Given the description of an element on the screen output the (x, y) to click on. 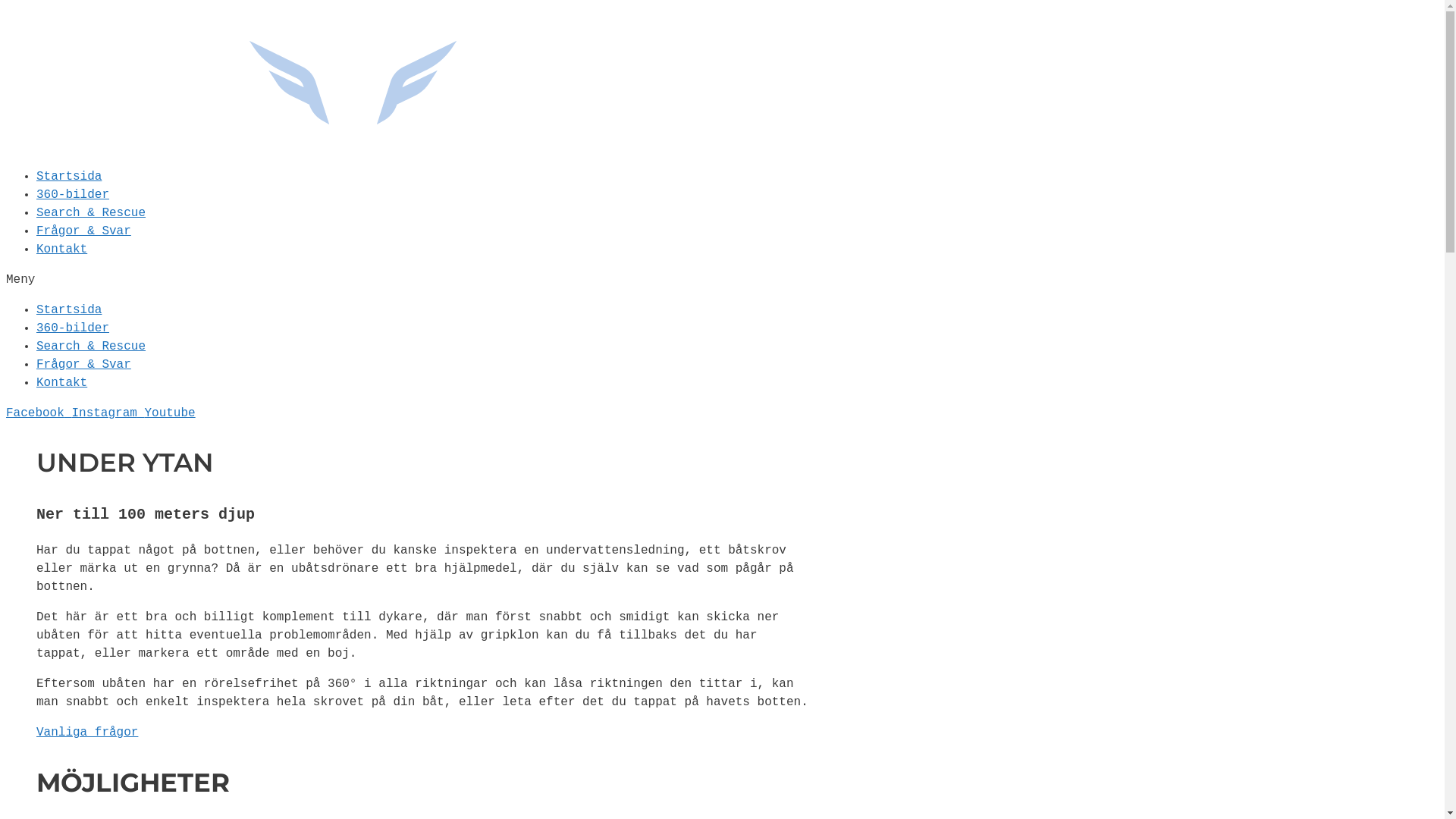
360-bilder Element type: text (72, 328)
Kontakt Element type: text (61, 249)
360-bilder Element type: text (72, 194)
Search & Rescue Element type: text (90, 212)
Startsida Element type: text (68, 309)
Startsida Element type: text (68, 176)
Facebook Element type: text (38, 413)
Instagram Element type: text (107, 413)
Youtube Element type: text (169, 413)
Kontakt Element type: text (61, 382)
Search & Rescue Element type: text (90, 346)
